Given the description of an element on the screen output the (x, y) to click on. 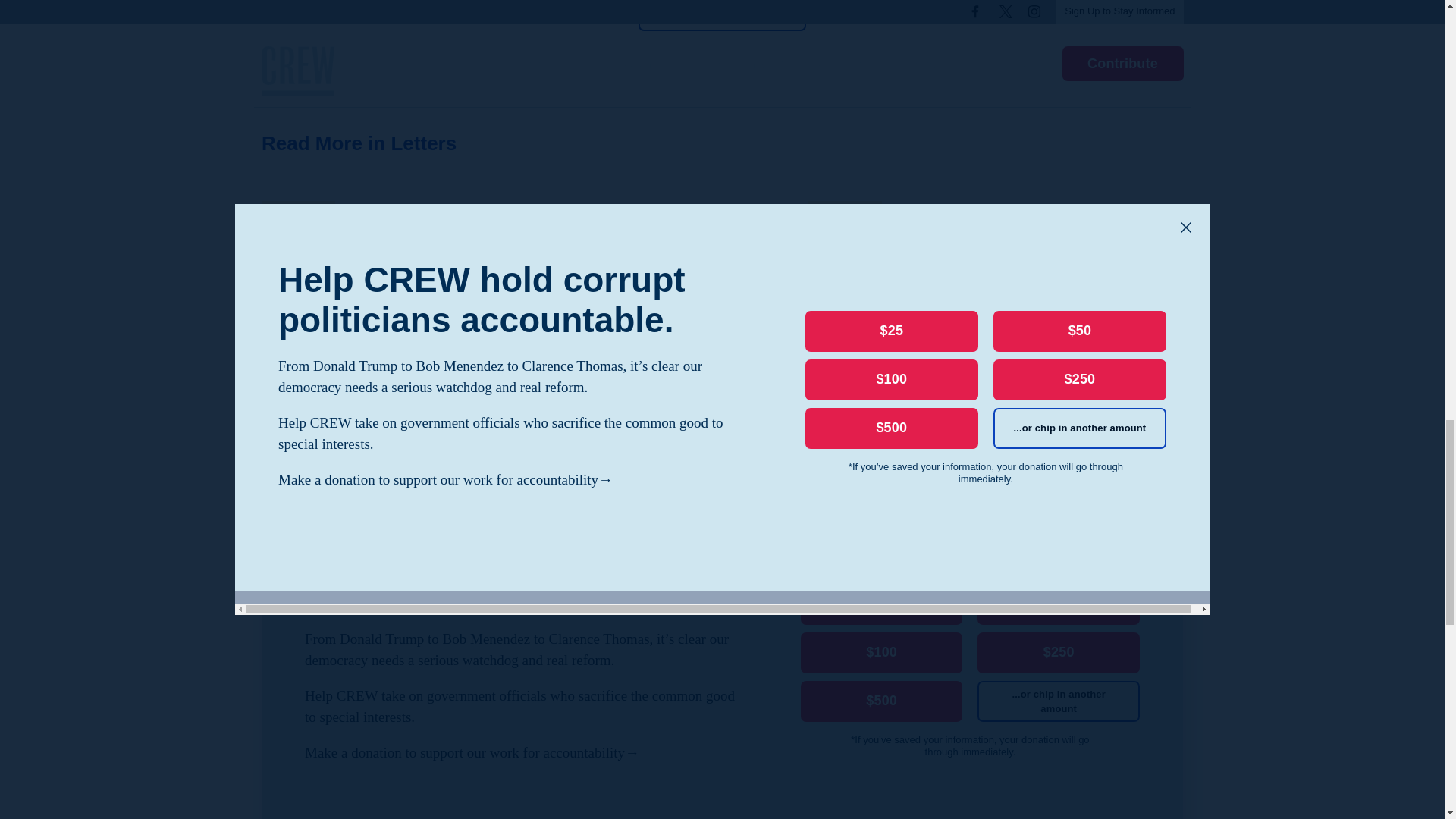
Read the letter here. (722, 15)
